Given the description of an element on the screen output the (x, y) to click on. 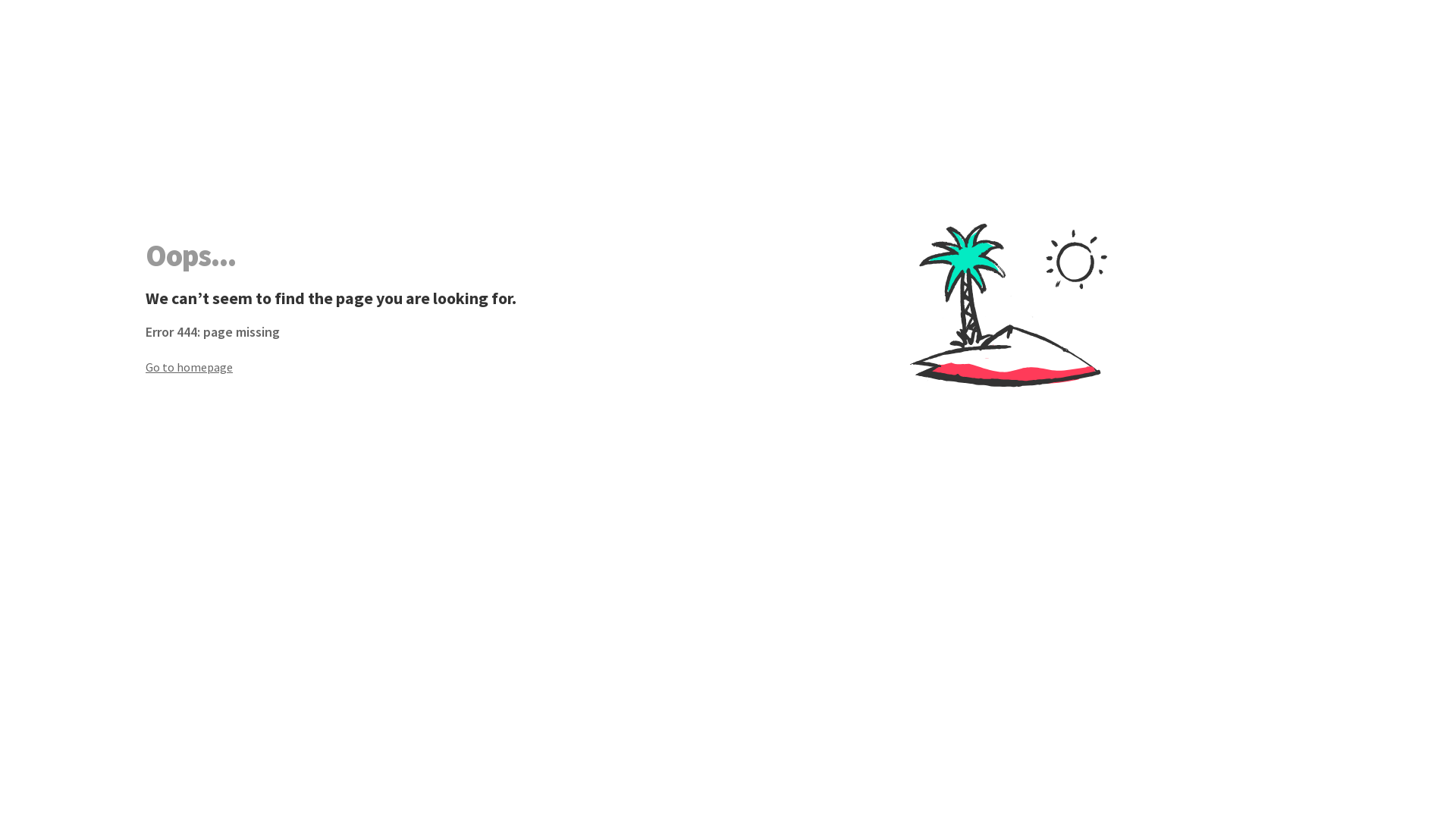
Go to homepage Element type: text (436, 366)
